Given the description of an element on the screen output the (x, y) to click on. 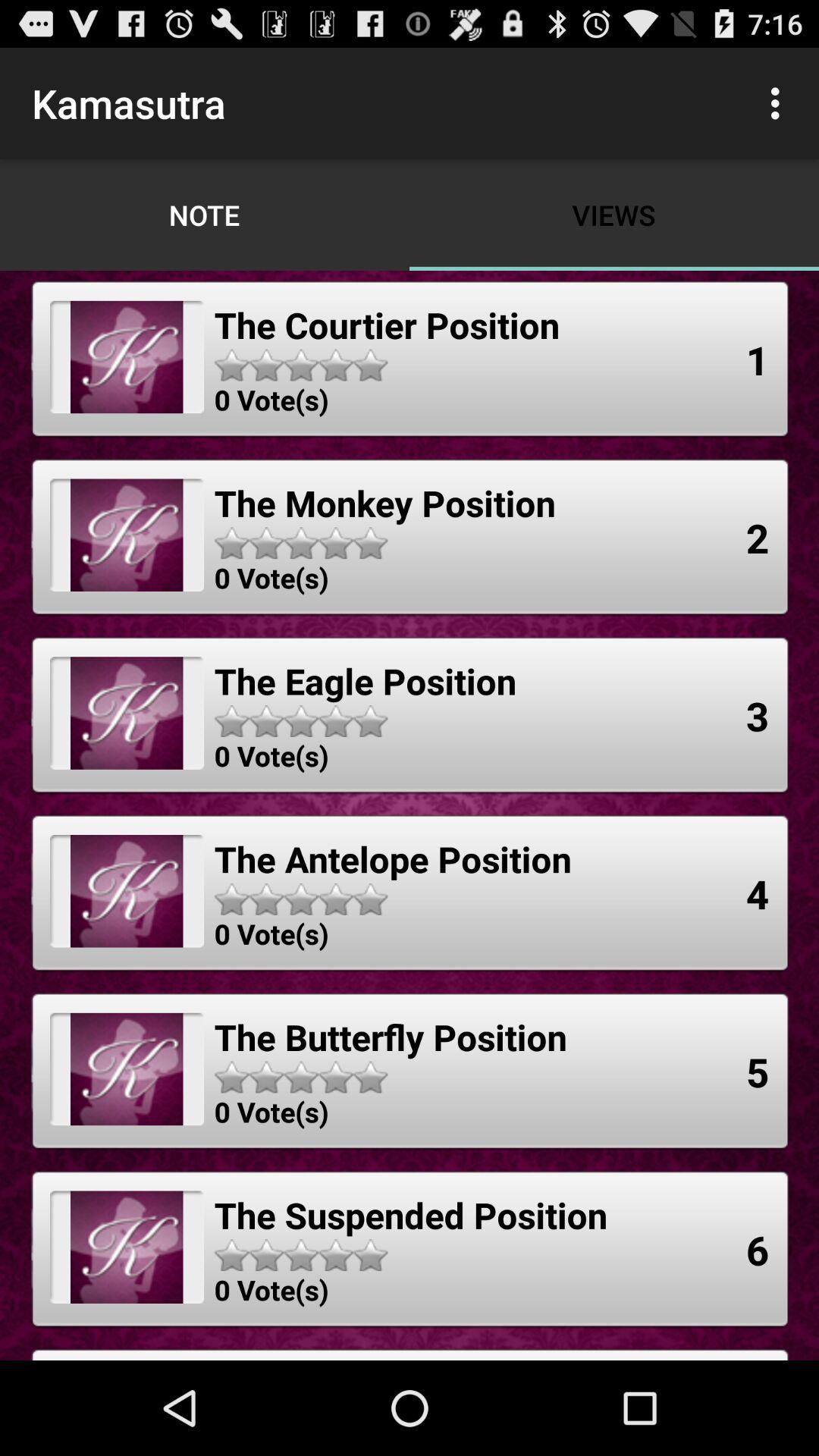
click icon to the right of the the suspended position item (757, 1249)
